Given the description of an element on the screen output the (x, y) to click on. 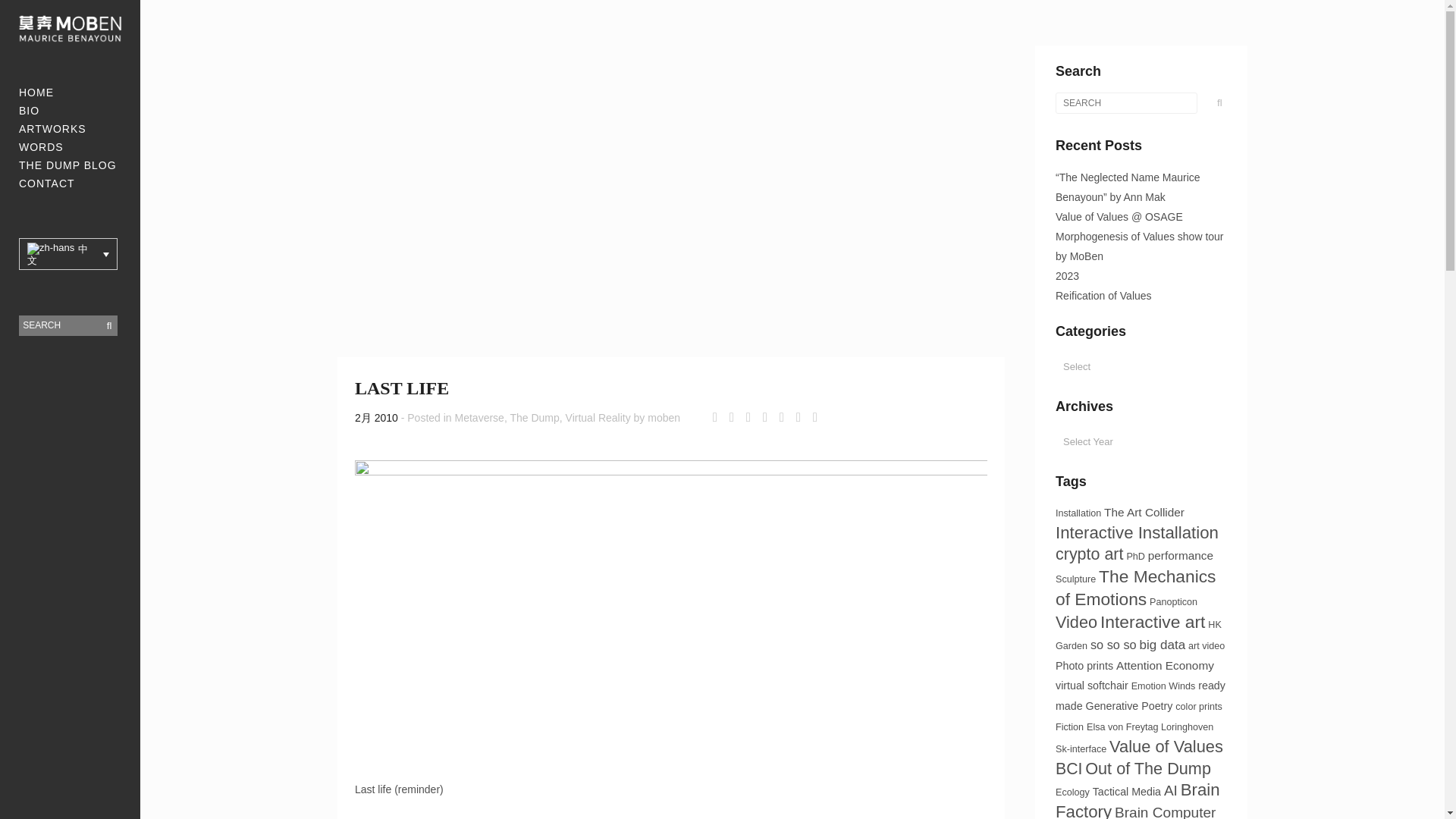
THE DUMP BLOG (67, 165)
HOME (67, 92)
CONTACT (67, 183)
WORDS (67, 147)
BIO (67, 110)
ARTWORKS (67, 128)
